Given the description of an element on the screen output the (x, y) to click on. 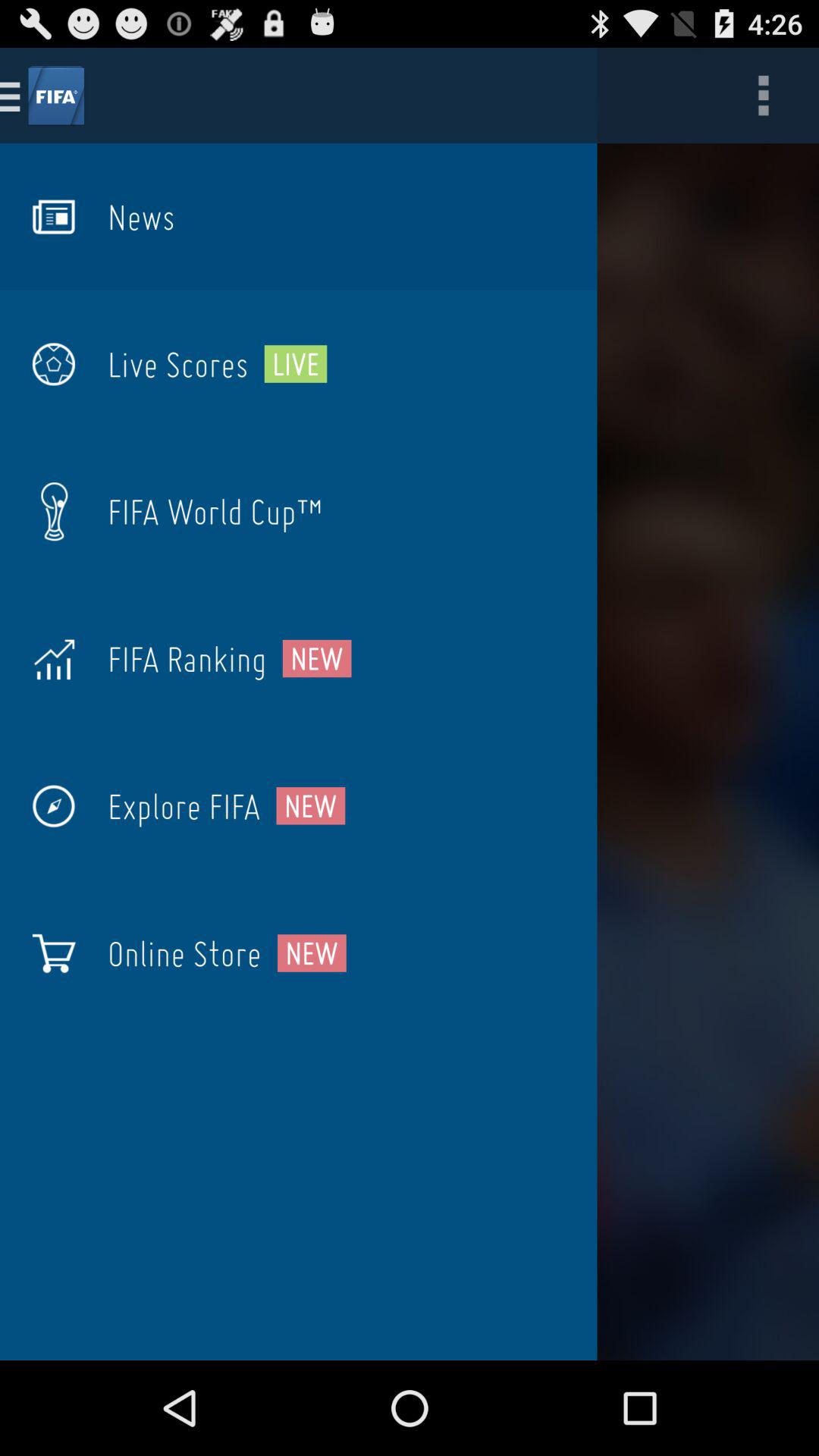
flip until the online store (184, 953)
